Given the description of an element on the screen output the (x, y) to click on. 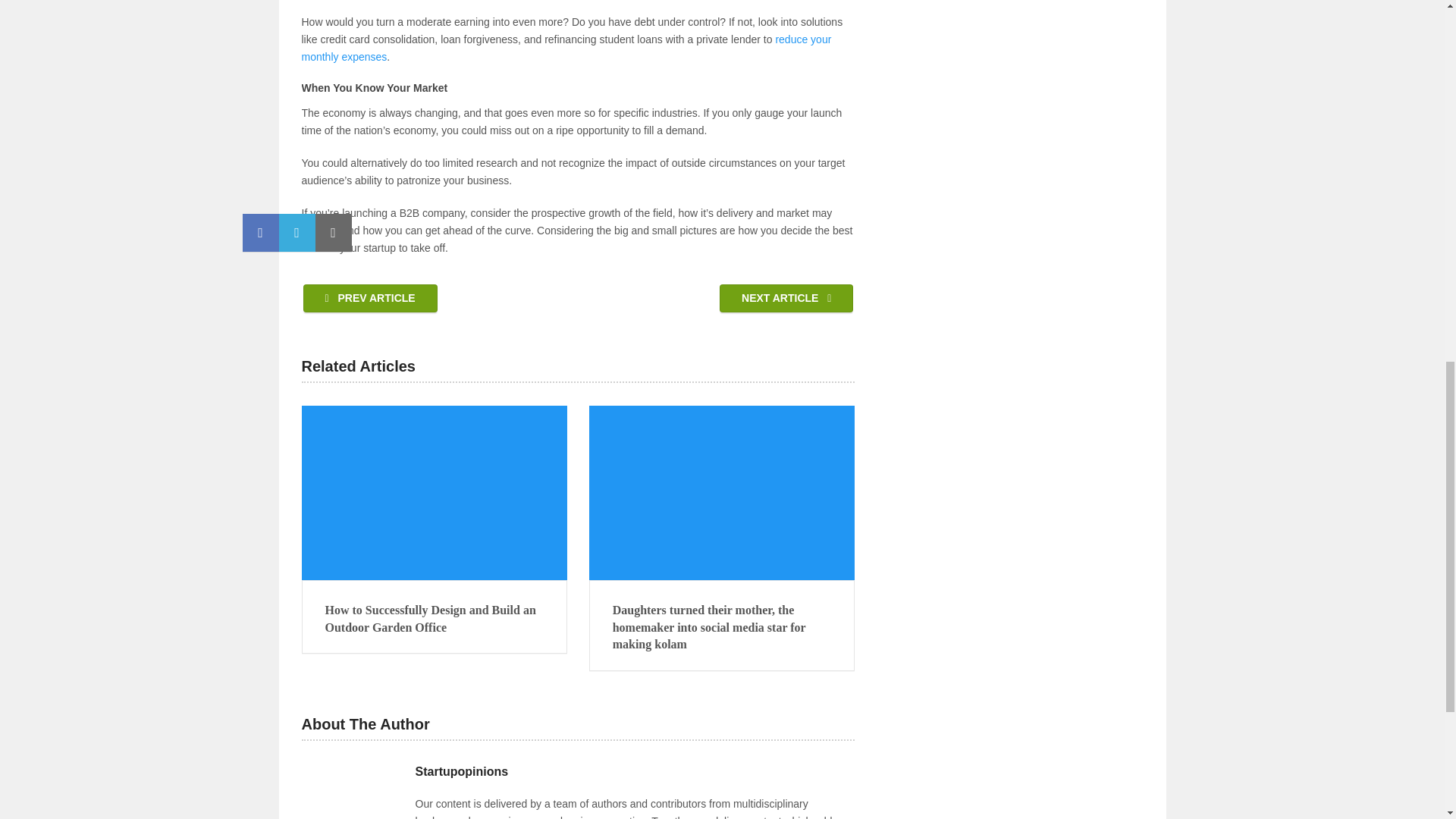
reduce your monthly expenses (566, 48)
Startupopinions (461, 771)
NEXT ARTICLE (786, 298)
PREV ARTICLE (370, 298)
